Given the description of an element on the screen output the (x, y) to click on. 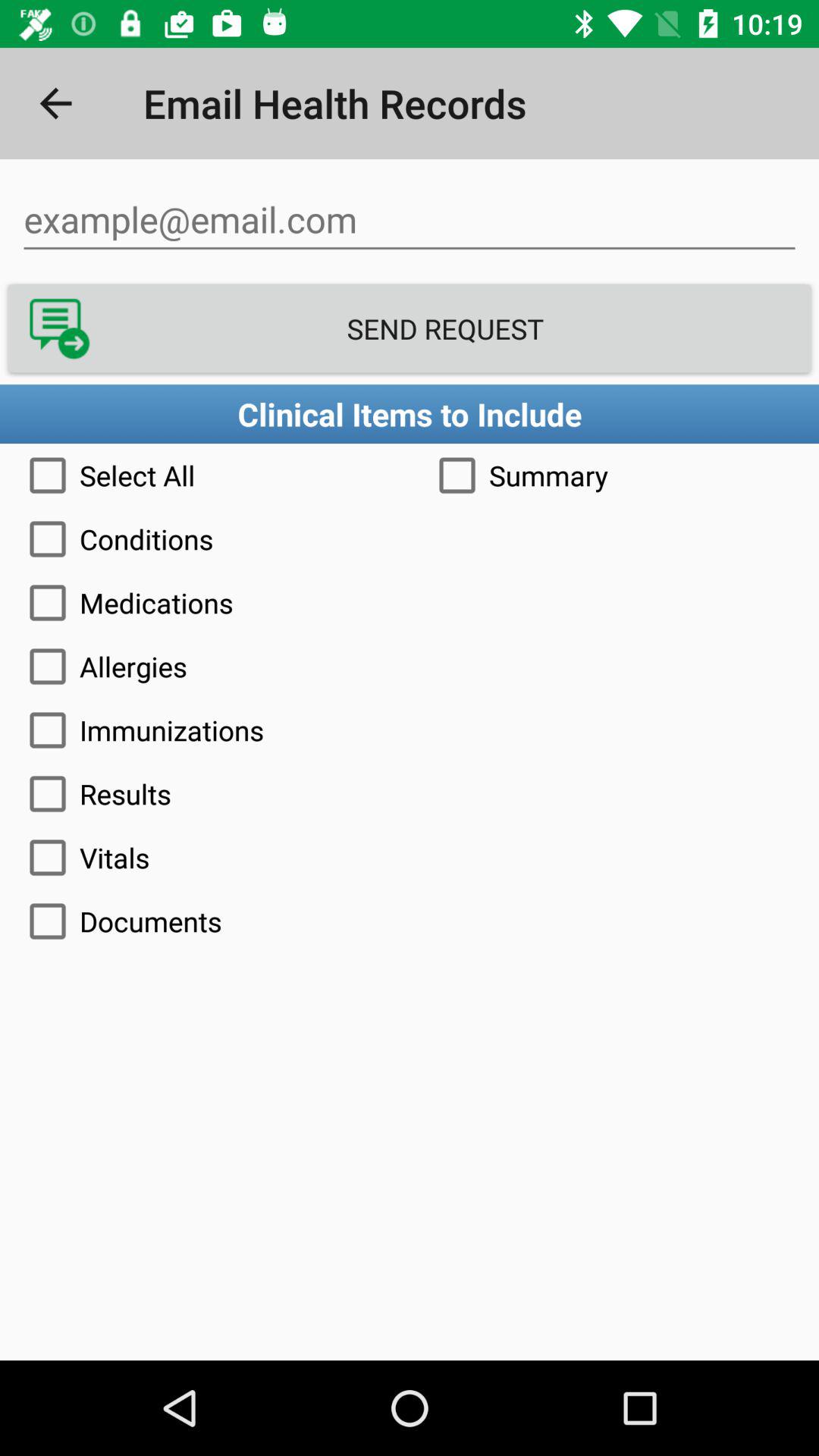
click summary at the top right corner (614, 475)
